Given the description of an element on the screen output the (x, y) to click on. 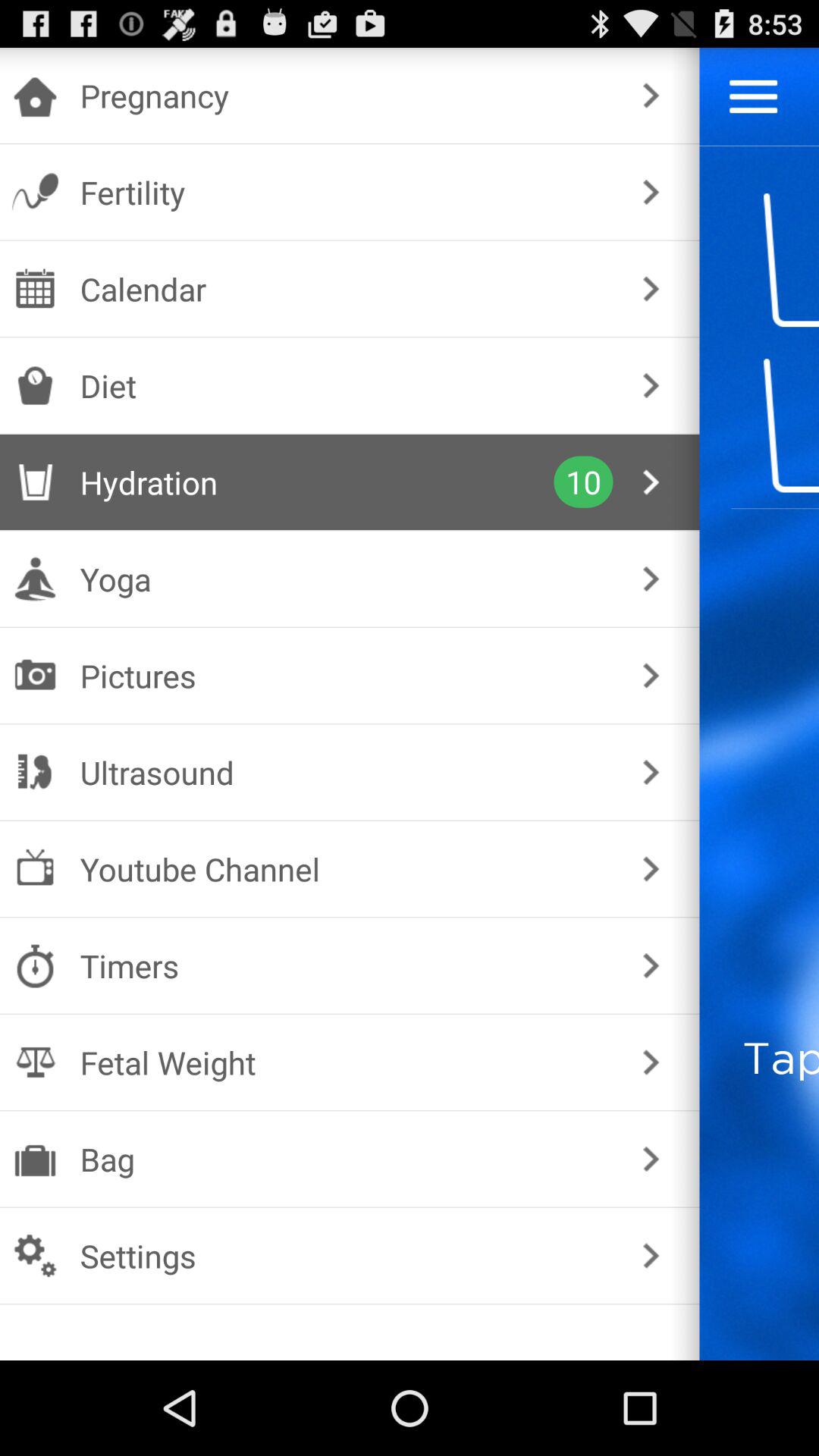
swipe until the hydration checkbox (316, 481)
